Given the description of an element on the screen output the (x, y) to click on. 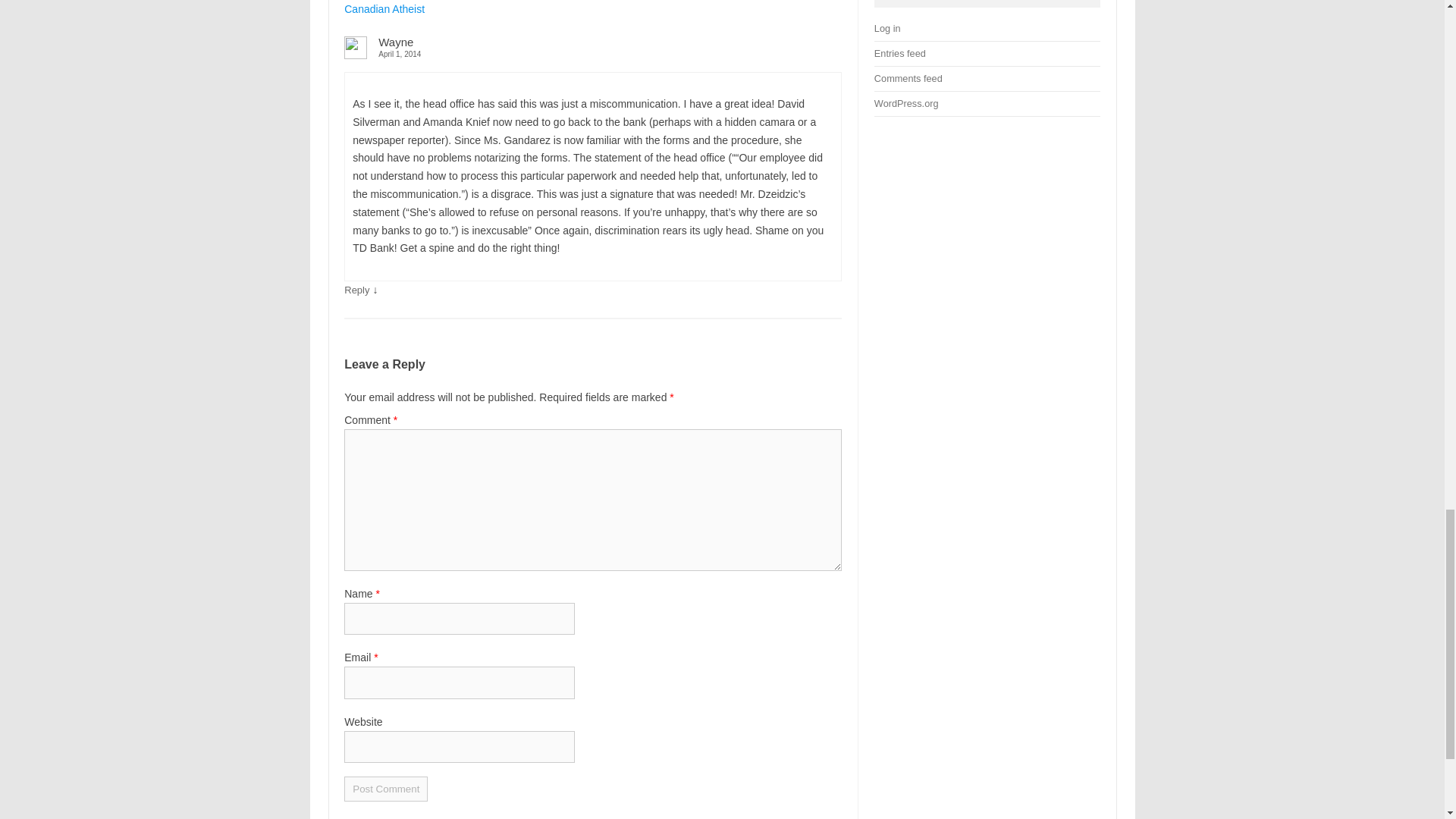
Post Comment (385, 788)
April 1, 2014 (592, 53)
Reply (356, 289)
Post Comment (385, 788)
